Given the description of an element on the screen output the (x, y) to click on. 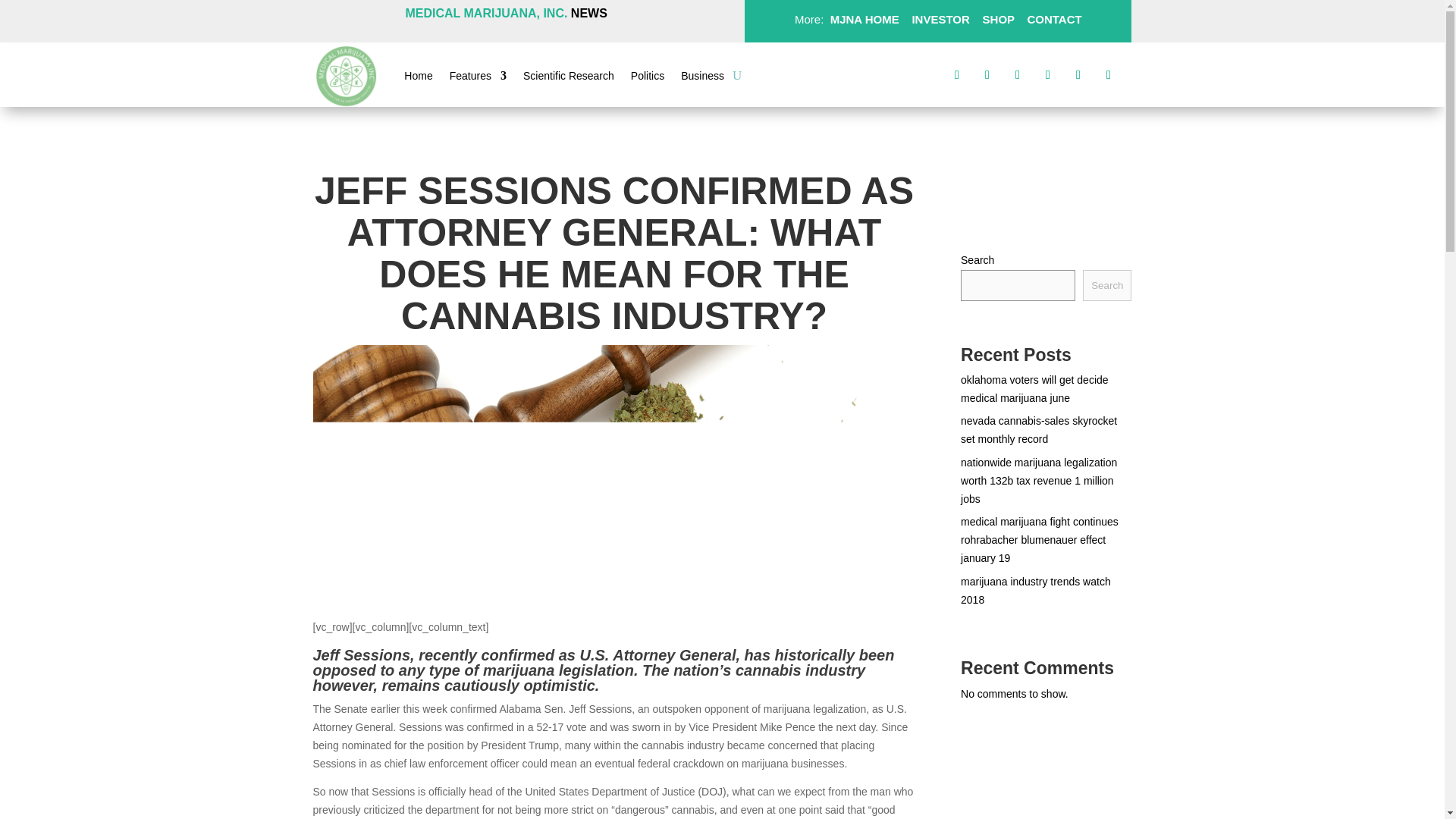
Follow on Twitter (986, 74)
Follow on Facebook (956, 74)
logo-medical-marijuana-inc (345, 76)
Business (702, 78)
Scientific Research (568, 78)
 SHOP (995, 19)
Follow on Instagram (1017, 74)
INVESTOR (940, 19)
Follow on Youtube (1108, 74)
Features (477, 78)
